Given the description of an element on the screen output the (x, y) to click on. 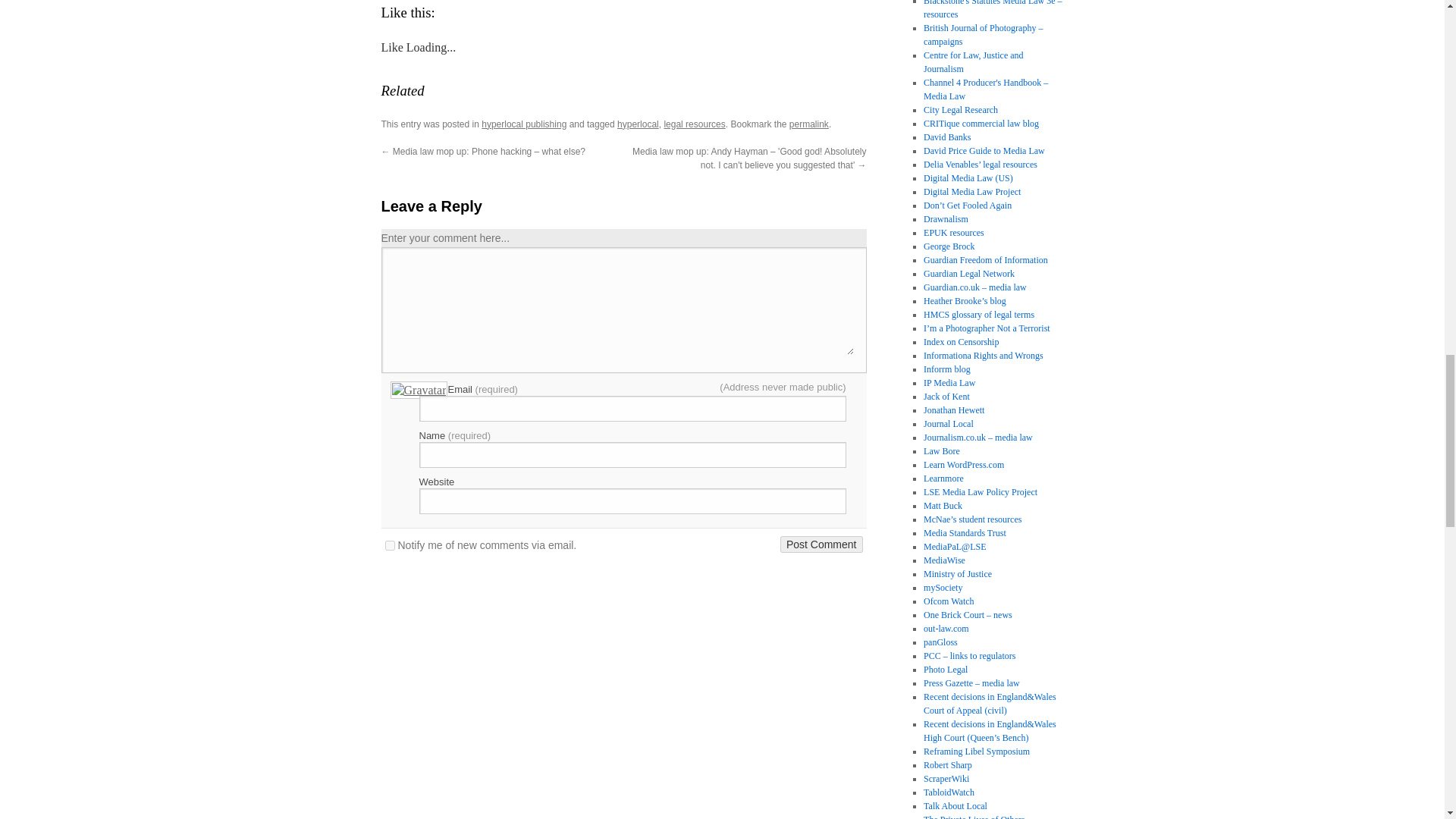
legal resources (694, 123)
hyperlocal publishing (523, 123)
hyperlocal (638, 123)
subscribe (389, 545)
Post Comment (821, 544)
permalink (808, 123)
